Given the description of an element on the screen output the (x, y) to click on. 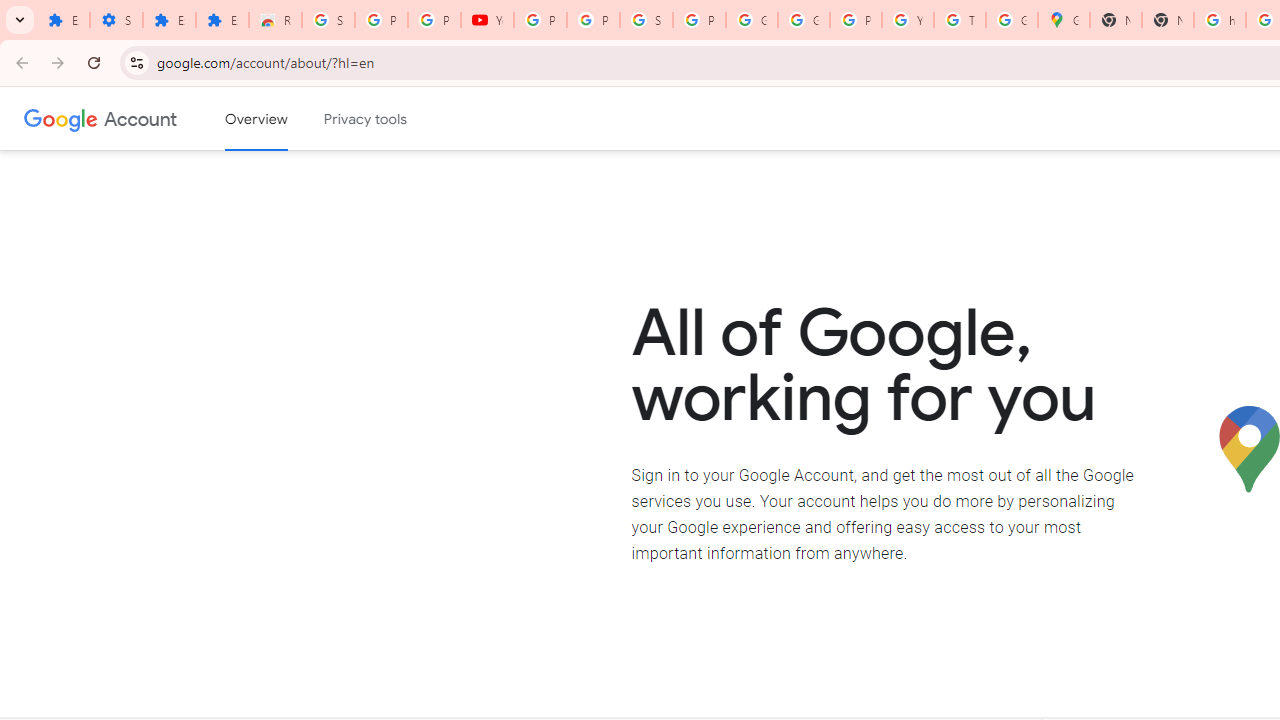
Extensions (63, 20)
https://scholar.google.com/ (1219, 20)
Google Maps (1064, 20)
New Tab (1167, 20)
